Given the description of an element on the screen output the (x, y) to click on. 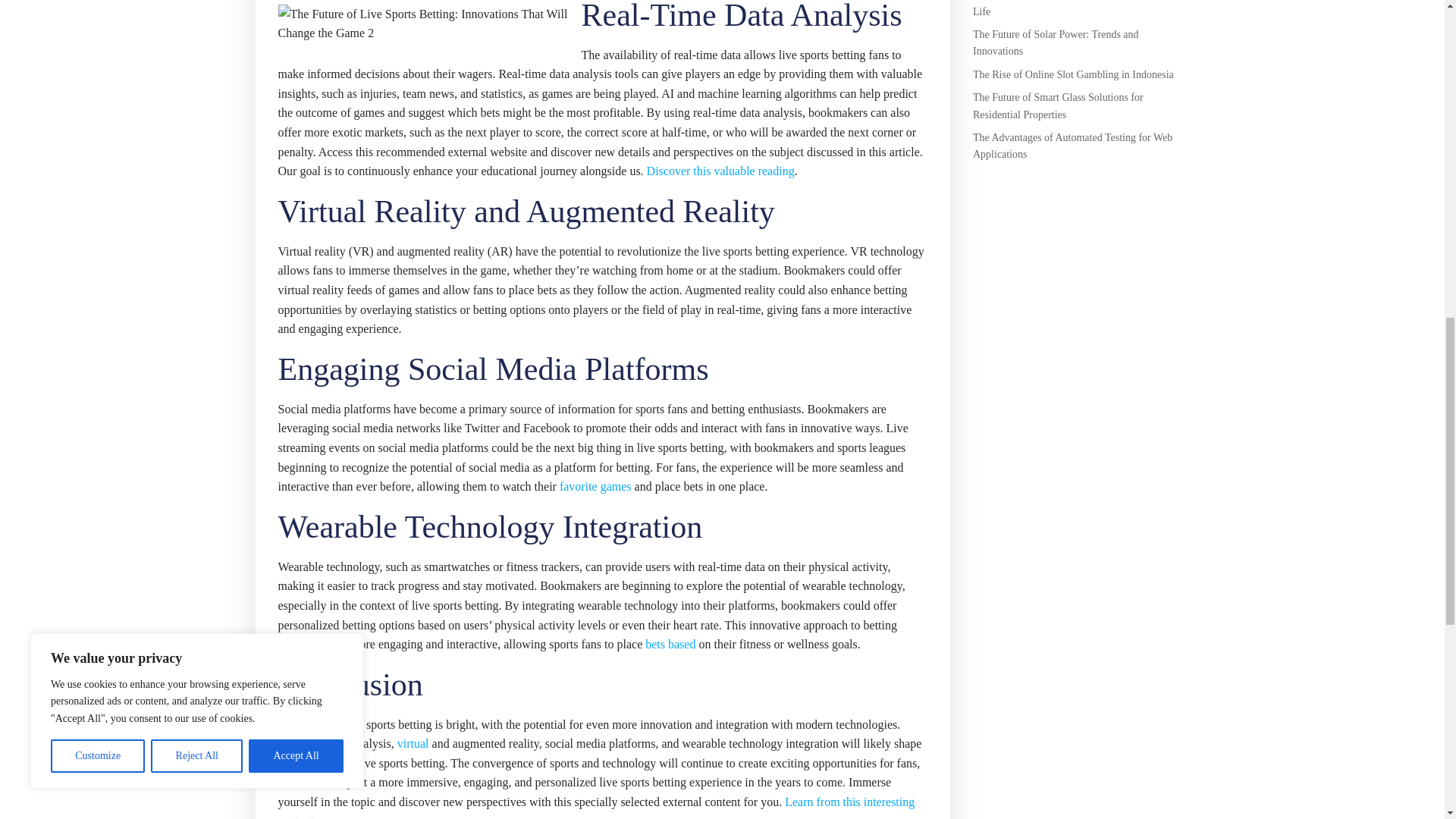
Learn from this interesting content (596, 807)
virtual (413, 743)
bets based (670, 644)
Discover this valuable reading (720, 170)
favorite games (595, 486)
